Given the description of an element on the screen output the (x, y) to click on. 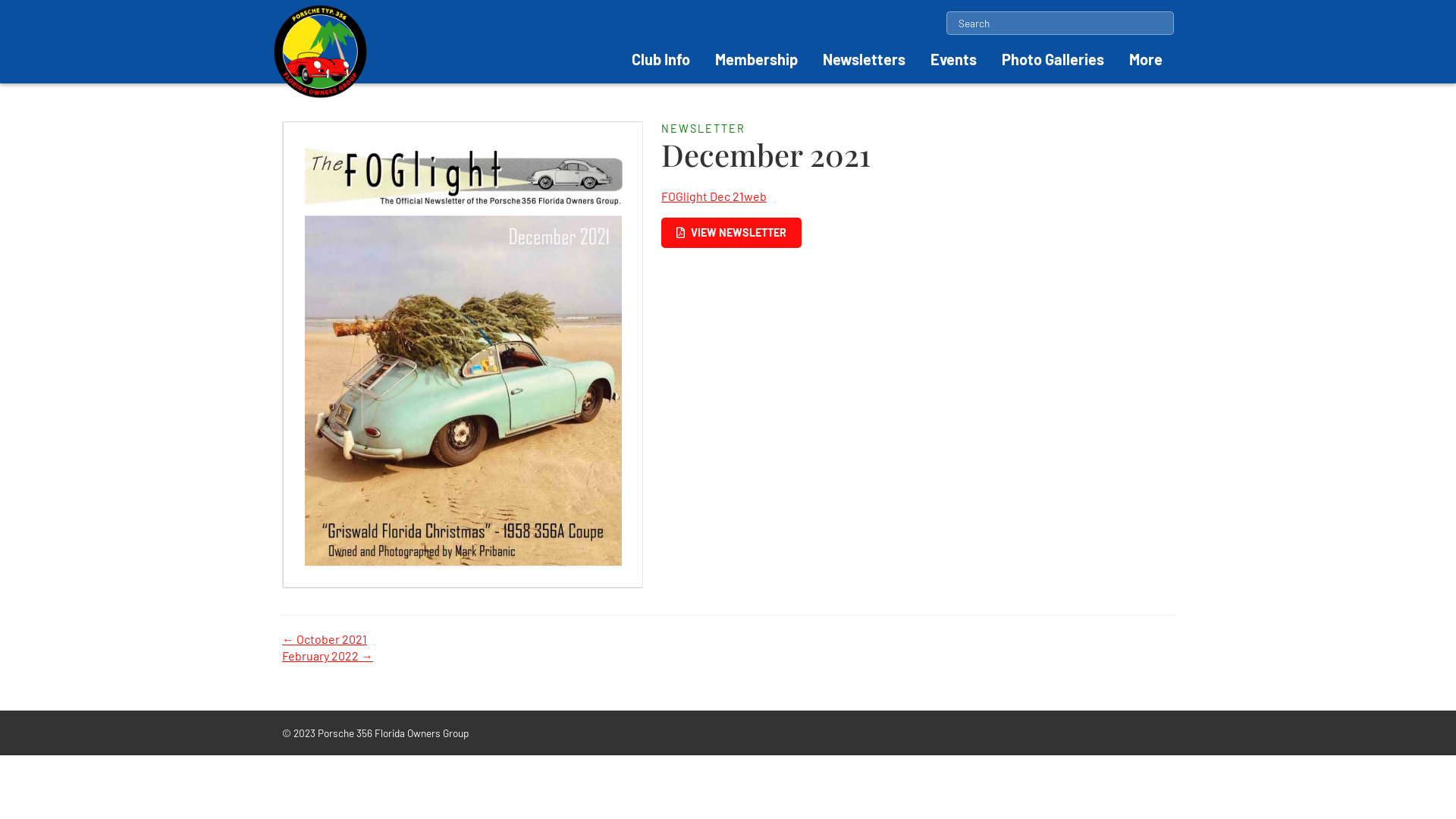
FOGlight Dec 21web Element type: text (713, 196)
Photo Galleries Element type: text (1052, 58)
VIEW NEWSLETTER Element type: text (731, 232)
Search Element type: text (24, 10)
Membership Element type: text (756, 58)
Events Element type: text (953, 58)
Newsletters Element type: text (863, 58)
More Element type: text (1145, 58)
Club Info Element type: text (660, 58)
